Given the description of an element on the screen output the (x, y) to click on. 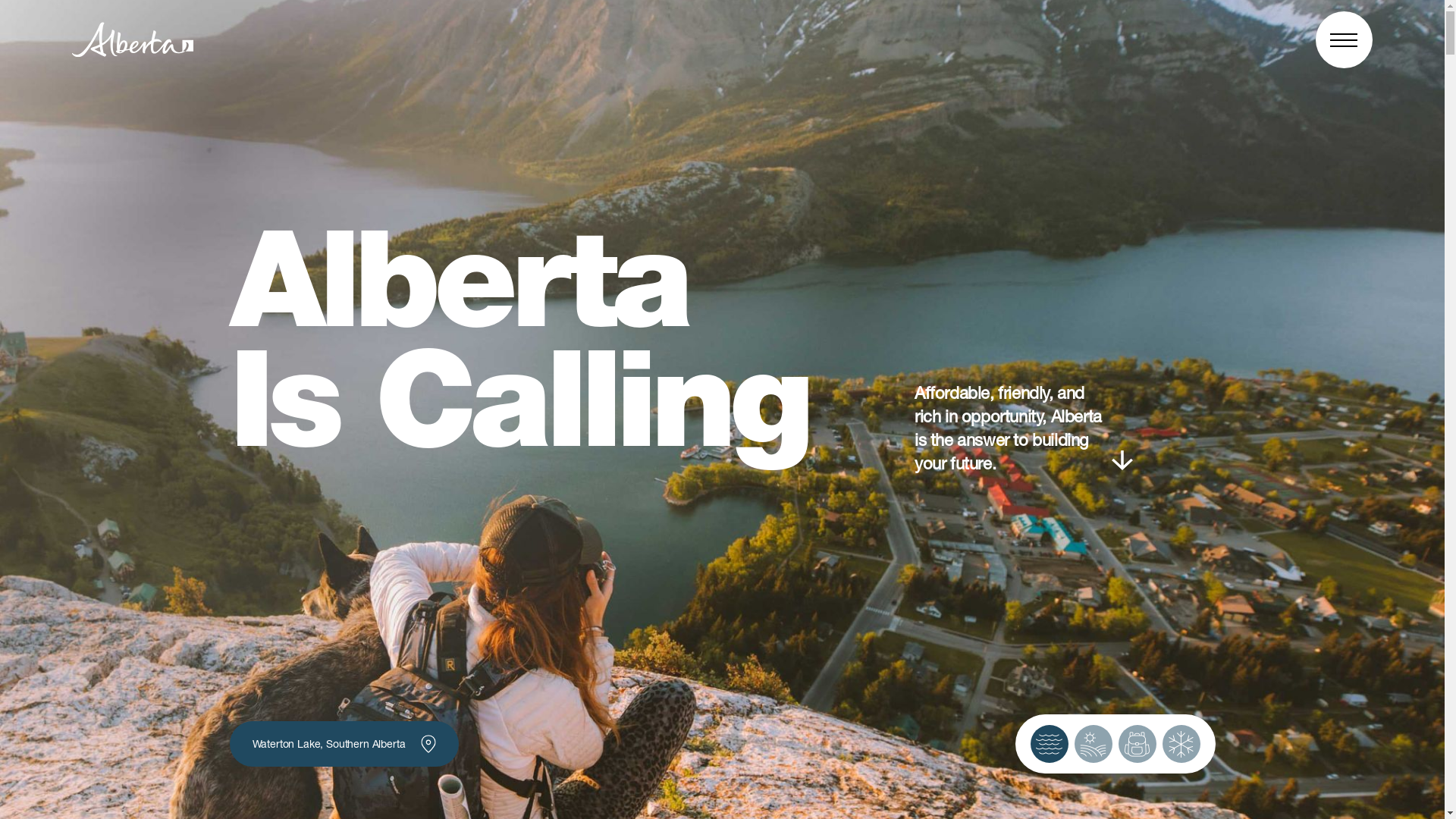
Toggle Summer Image Element type: text (1092, 743)
Toggle Spring Image Element type: text (1048, 743)
Toggle Winter Image Element type: text (1180, 743)
Toggle Fall Image Element type: text (1136, 743)
